Given the description of an element on the screen output the (x, y) to click on. 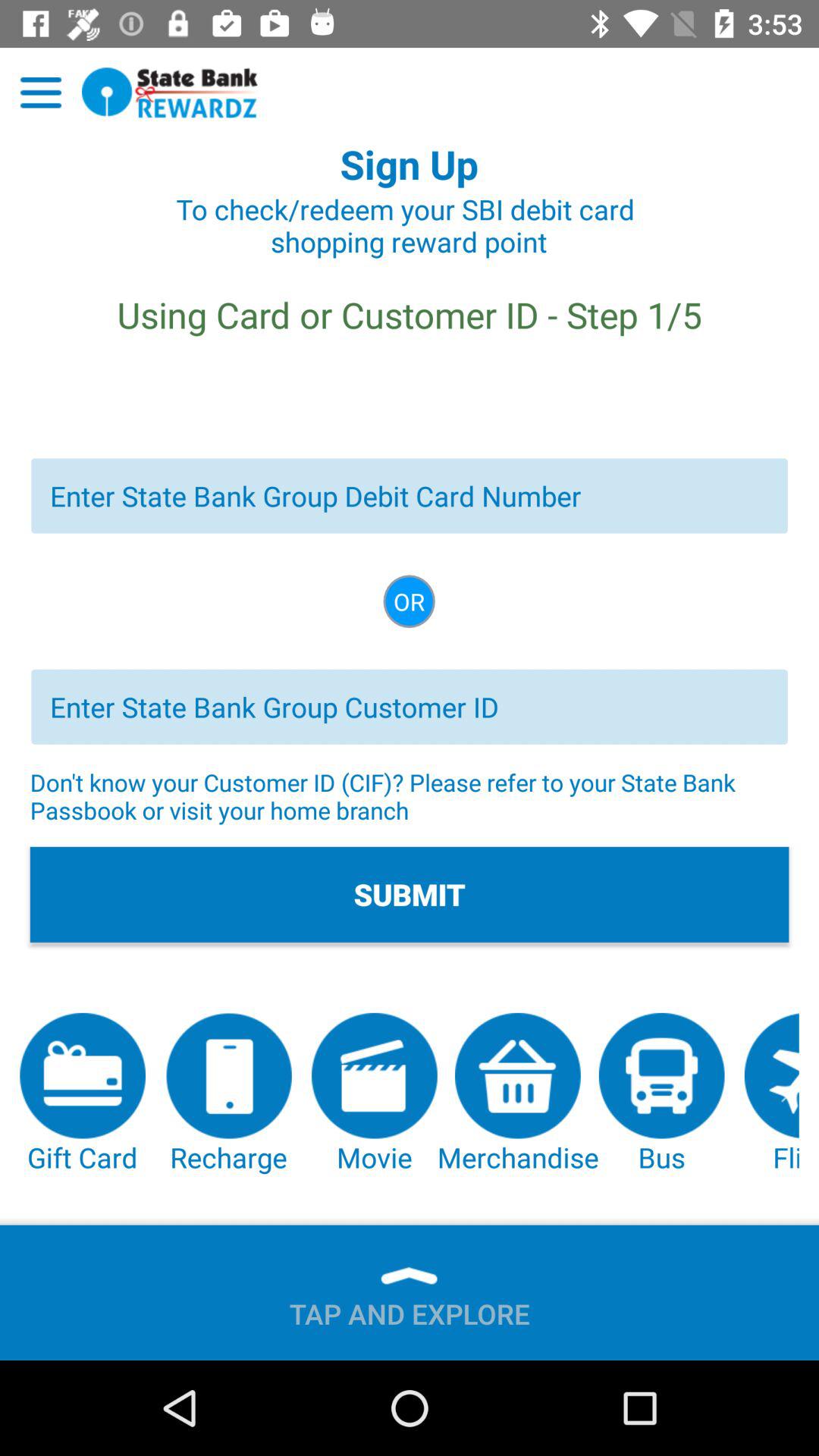
choose button below the submit item (517, 1094)
